Given the description of an element on the screen output the (x, y) to click on. 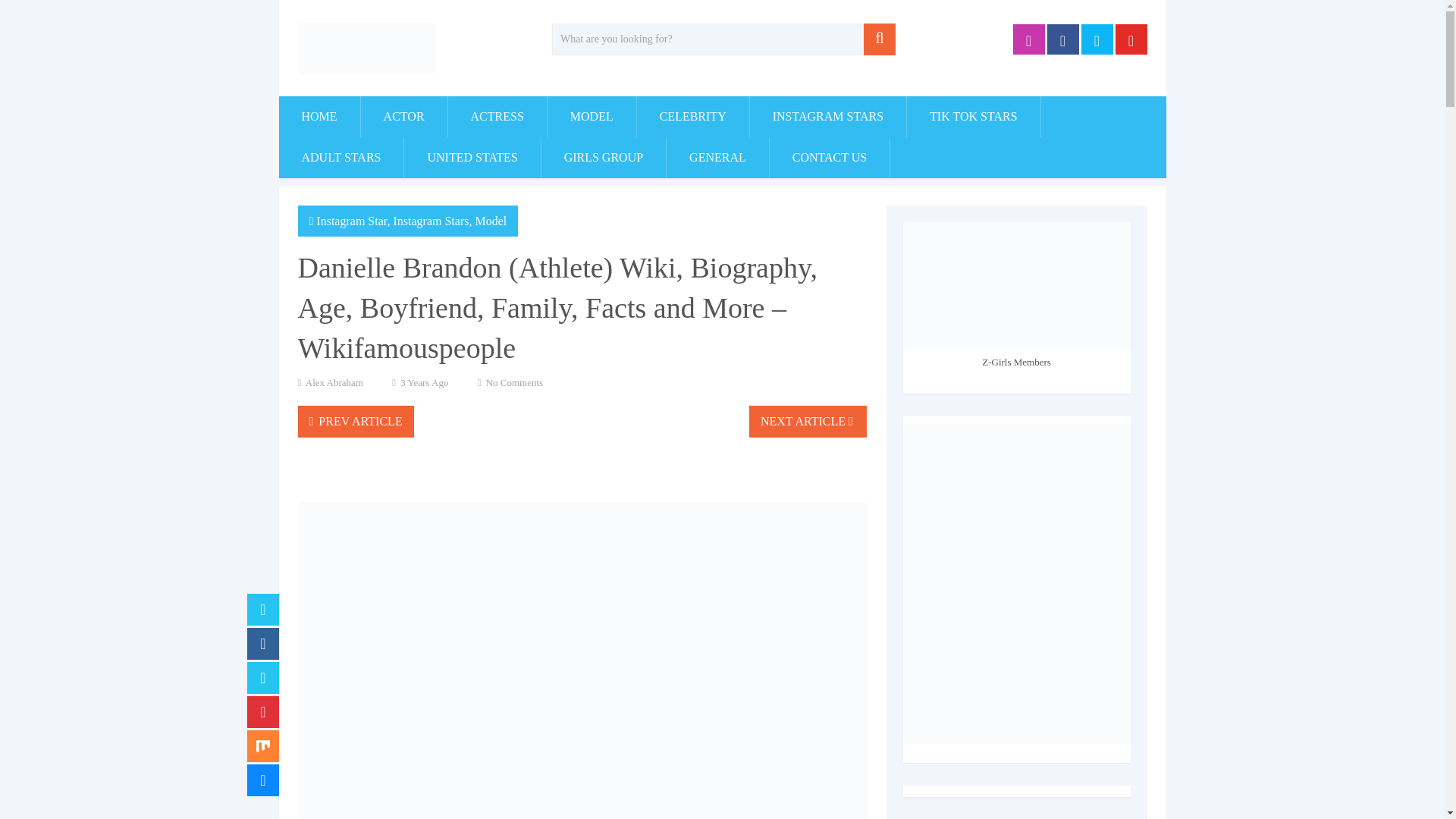
ADULT STARS (341, 157)
Posts by Alex Abraham (333, 382)
ACTRESS (497, 116)
GENERAL (717, 157)
ACTOR (403, 116)
No Comments (514, 382)
Instagram Star (351, 220)
View all posts in Instagram Star (351, 220)
View all posts in Instagram Stars (430, 220)
GIRLS GROUP (603, 157)
